Given the description of an element on the screen output the (x, y) to click on. 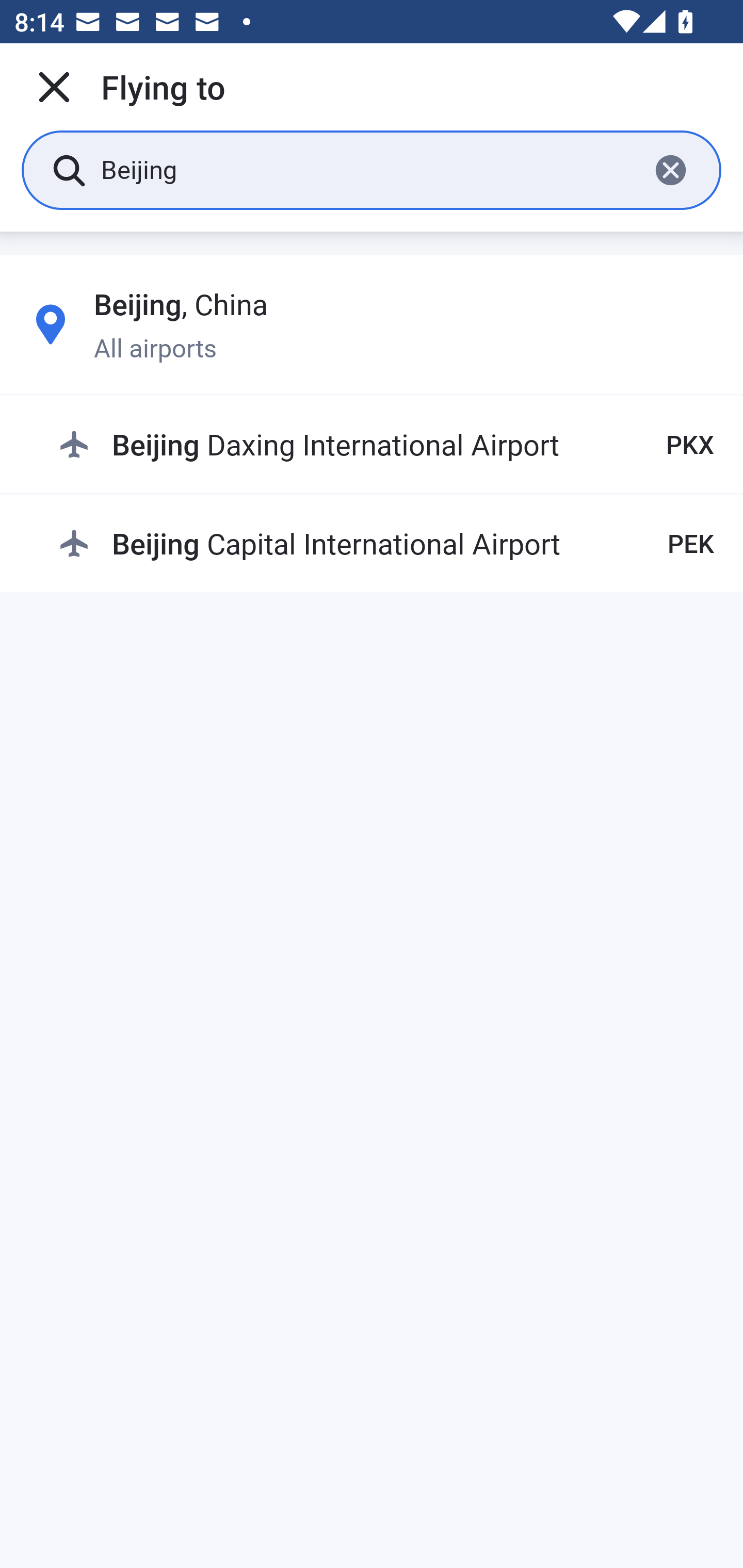
Beijing (367, 169)
Beijing, China All airports (371, 324)
Beijing Daxing International Airport PKX (385, 444)
Beijing Capital International Airport PEK (385, 543)
